Given the description of an element on the screen output the (x, y) to click on. 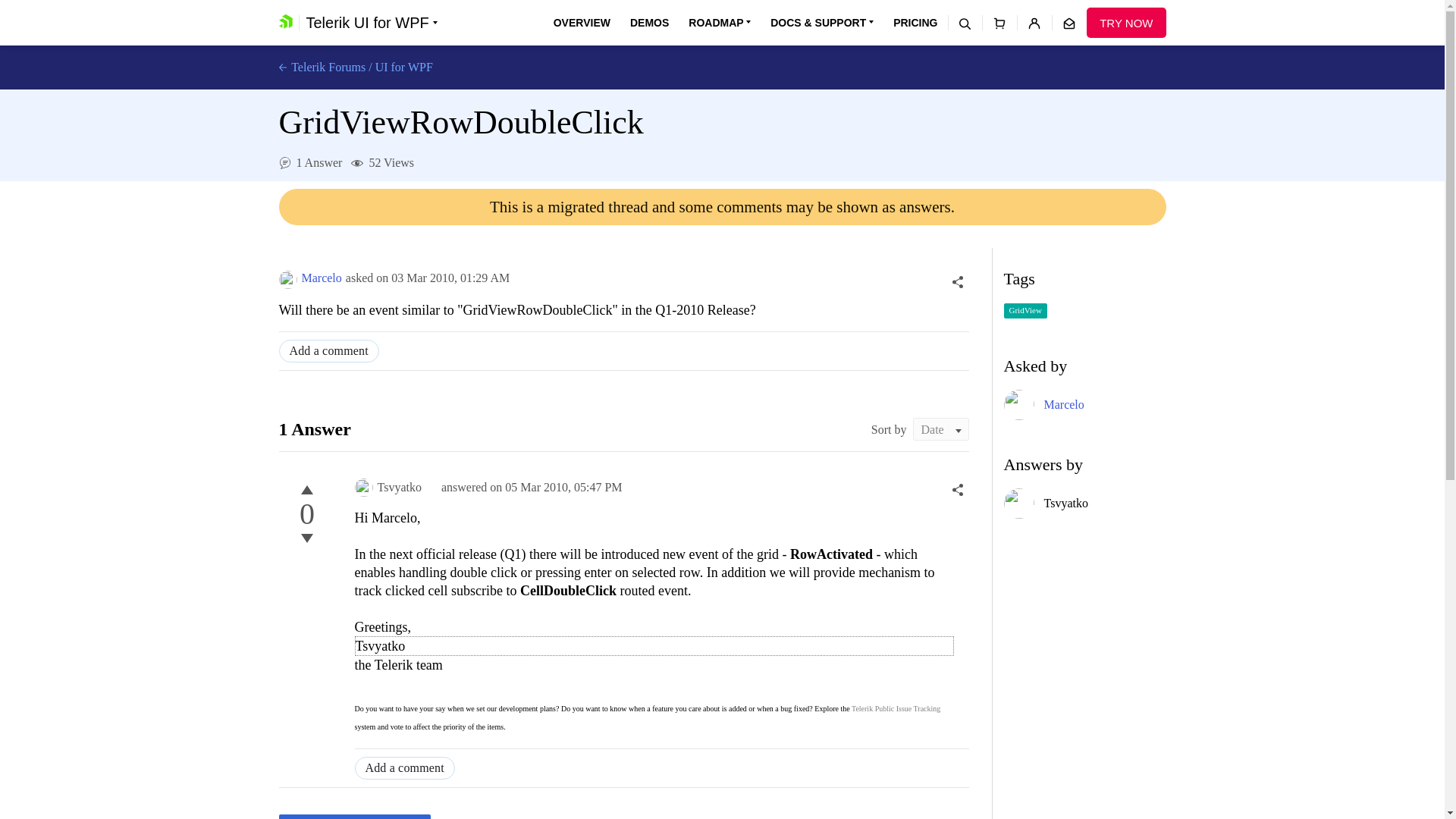
This answer is not helpful. (306, 538)
Telerik UI for WPF (371, 22)
GridView (1025, 310)
ROADMAP (719, 22)
OVERVIEW (581, 22)
SKIP NAVIGATION (339, 7)
This answer is helpful. (306, 489)
